Given the description of an element on the screen output the (x, y) to click on. 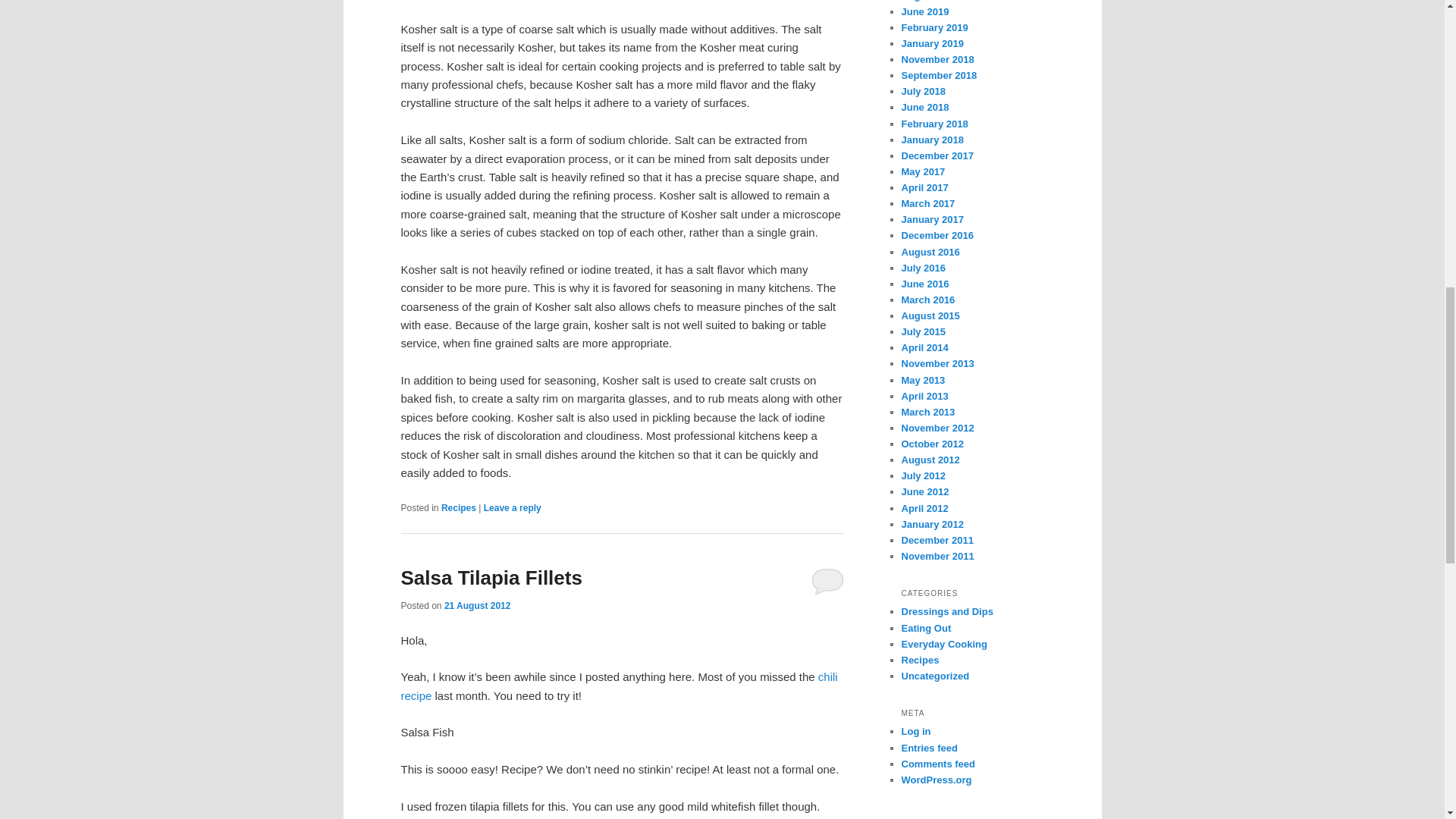
chili recipe (618, 685)
9:21 am (477, 605)
21 August 2012 (477, 605)
Recipes (458, 507)
Leave a reply (512, 507)
Salsa Tilapia Fillets (490, 577)
